Given the description of an element on the screen output the (x, y) to click on. 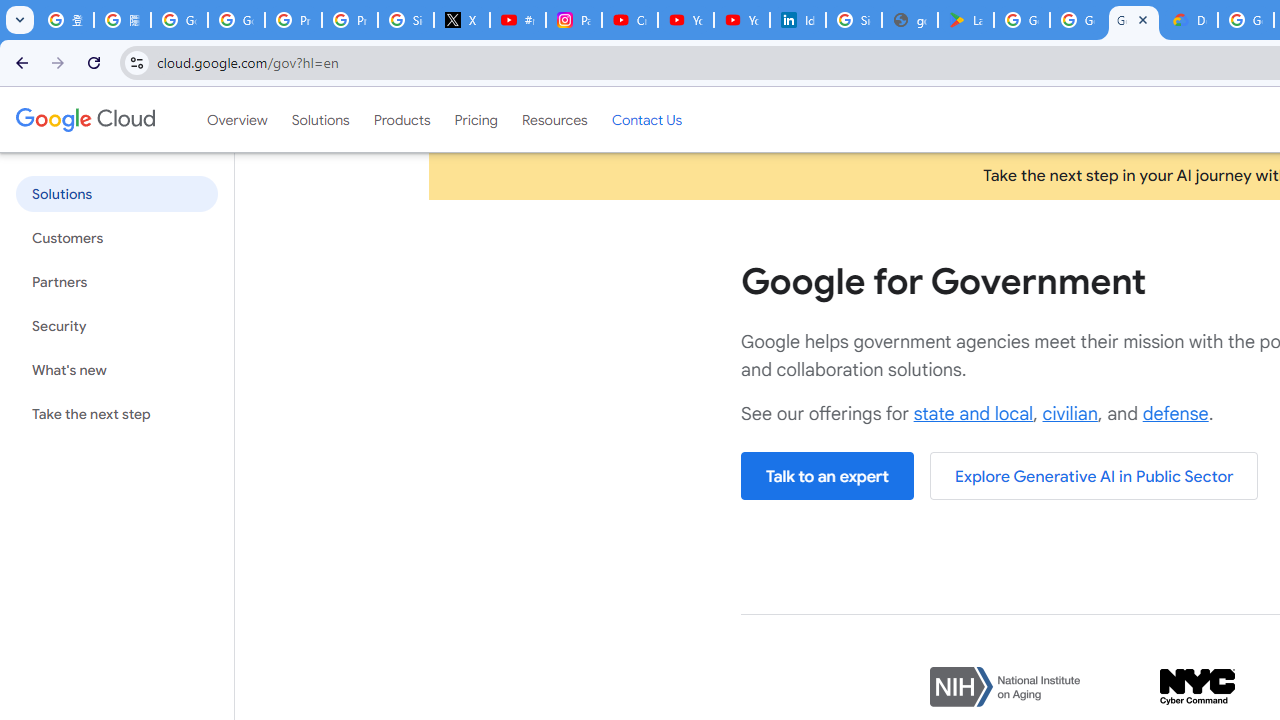
What's new (116, 370)
NIA (1005, 687)
